Given the description of an element on the screen output the (x, y) to click on. 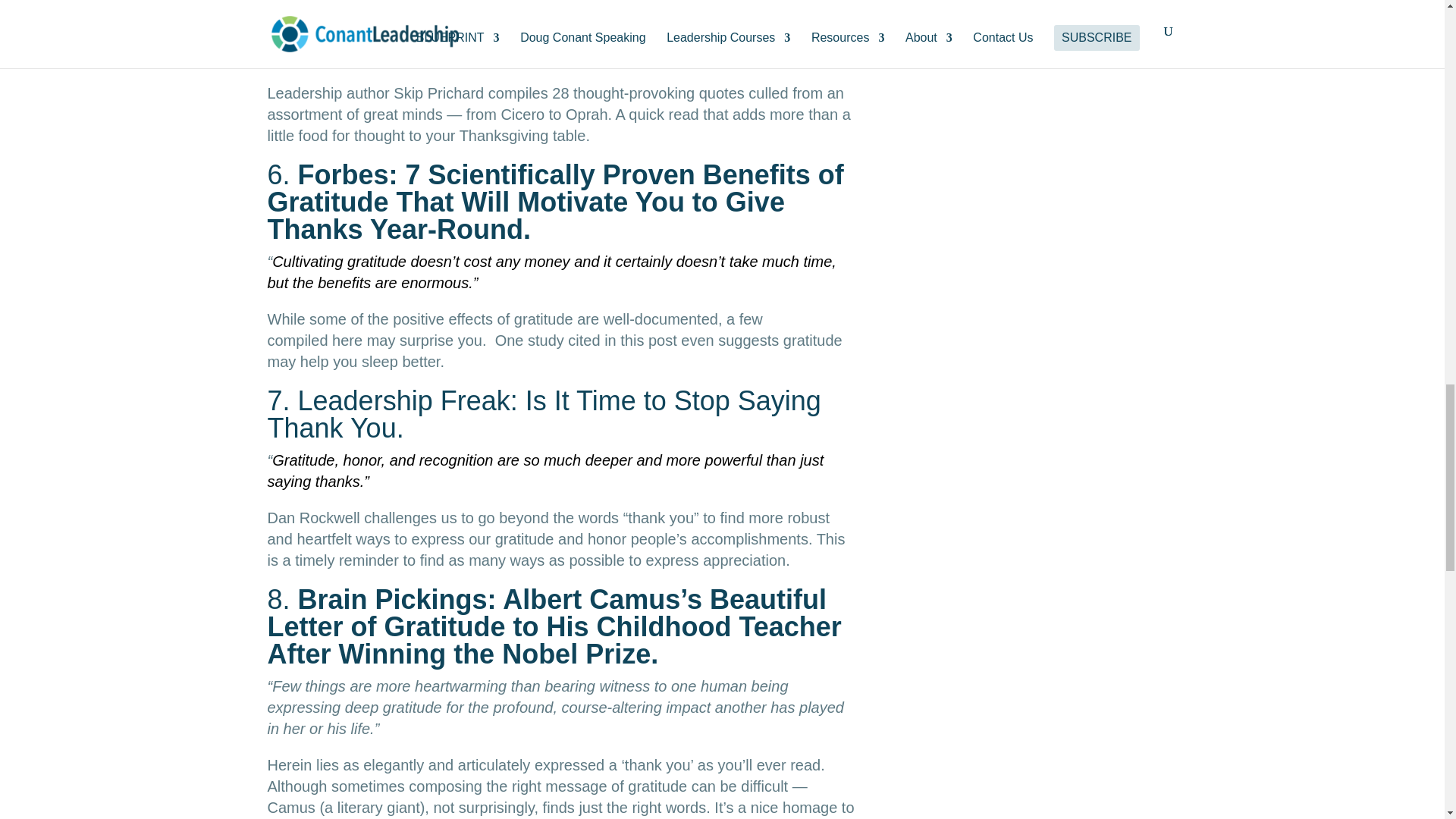
7 Scientifically Proven Benefits of Gratitude (554, 201)
Leadership Freak: Is It Time to Stop Saying Thank You. (543, 413)
Albert Camus Letter of Gratitude (553, 626)
Is It Time To Stop Saying Thank You (543, 413)
28 Appreciation, Thank You and Gratitude Quotes (555, 20)
